Given the description of an element on the screen output the (x, y) to click on. 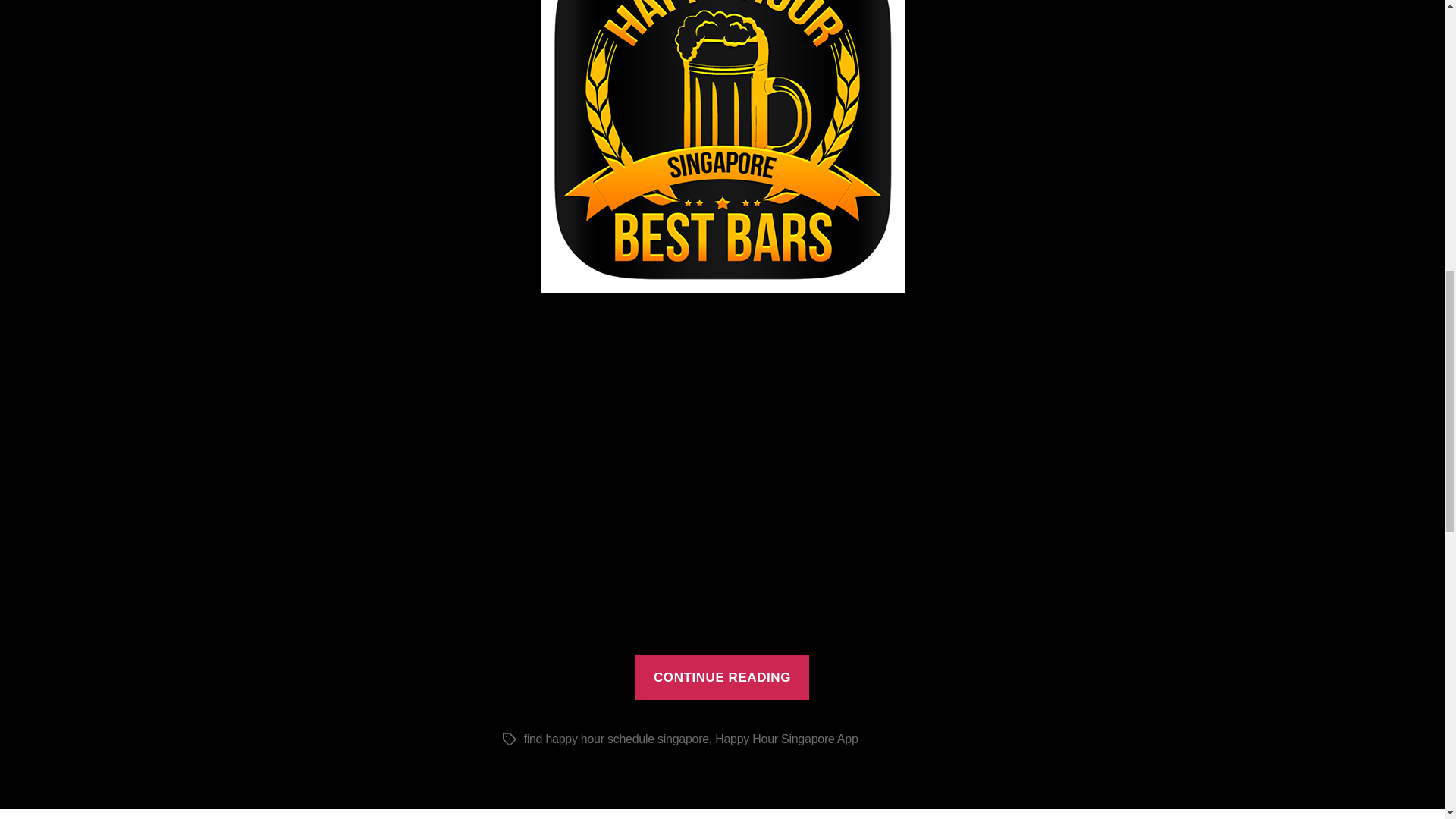
find happy hour schedule singapore (614, 738)
Happy Hour Singapore App (785, 738)
